Given the description of an element on the screen output the (x, y) to click on. 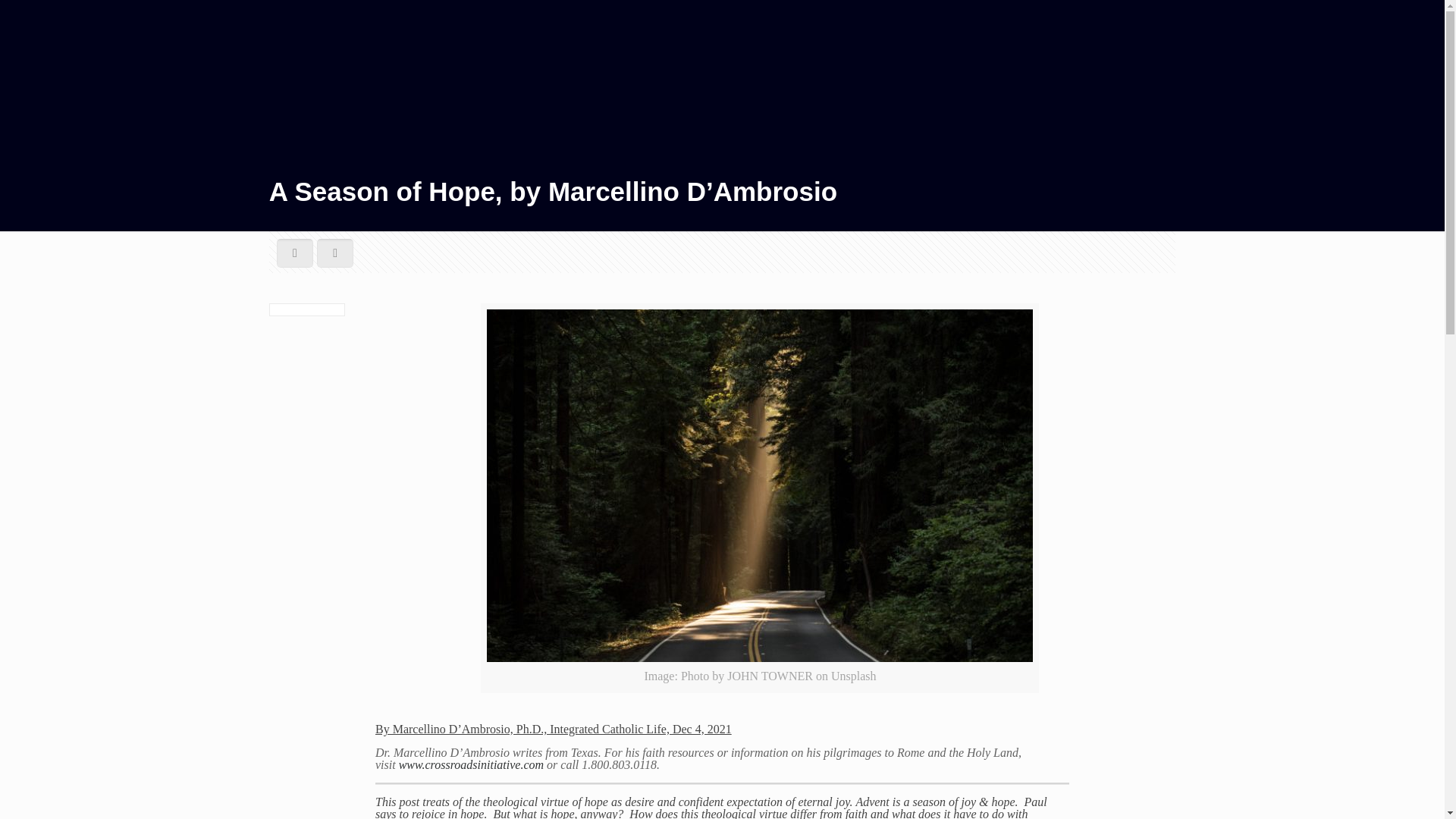
www.crossroadsinitiative.com  (472, 764)
